Given the description of an element on the screen output the (x, y) to click on. 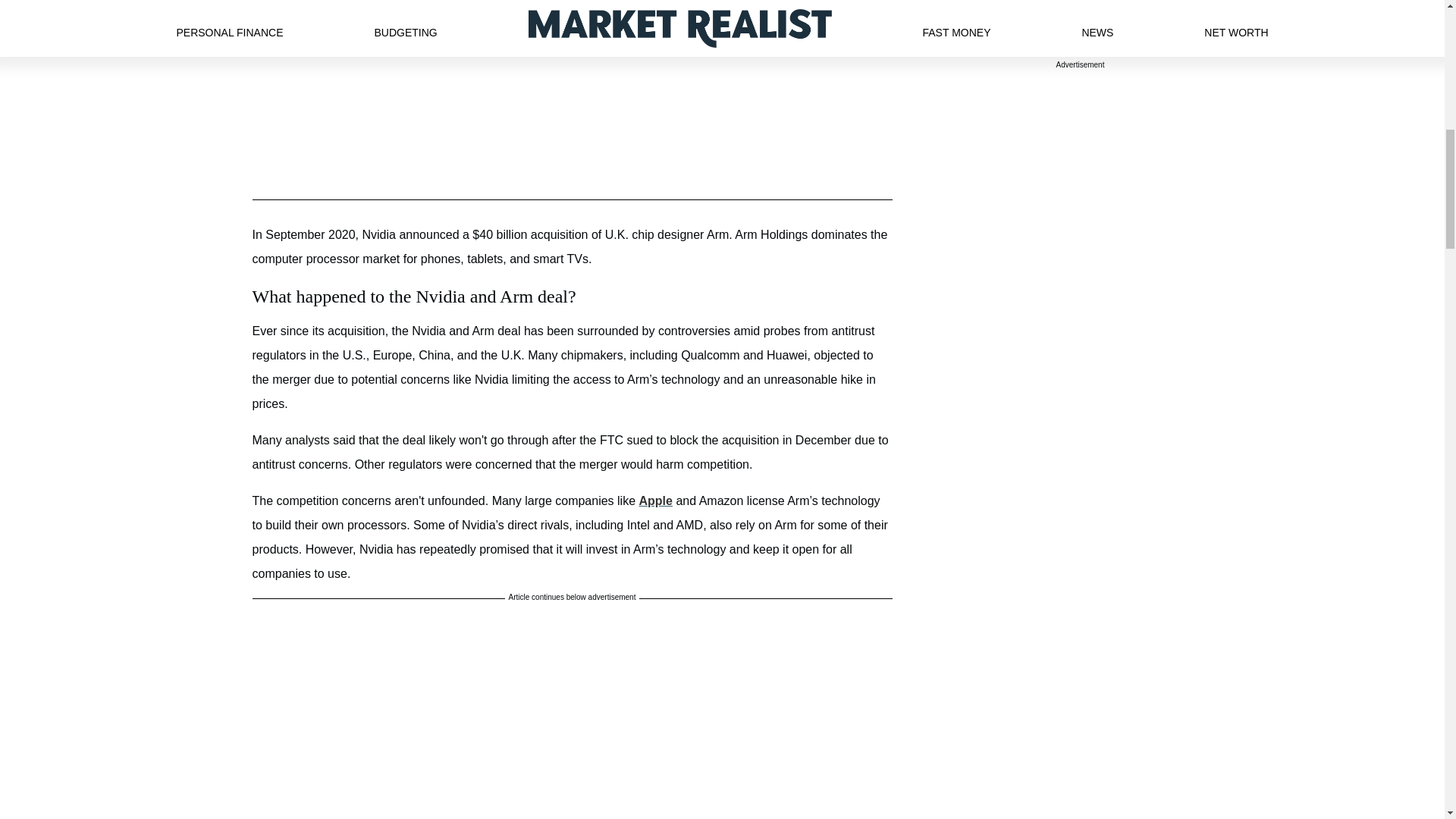
Apple (655, 500)
